Given the description of an element on the screen output the (x, y) to click on. 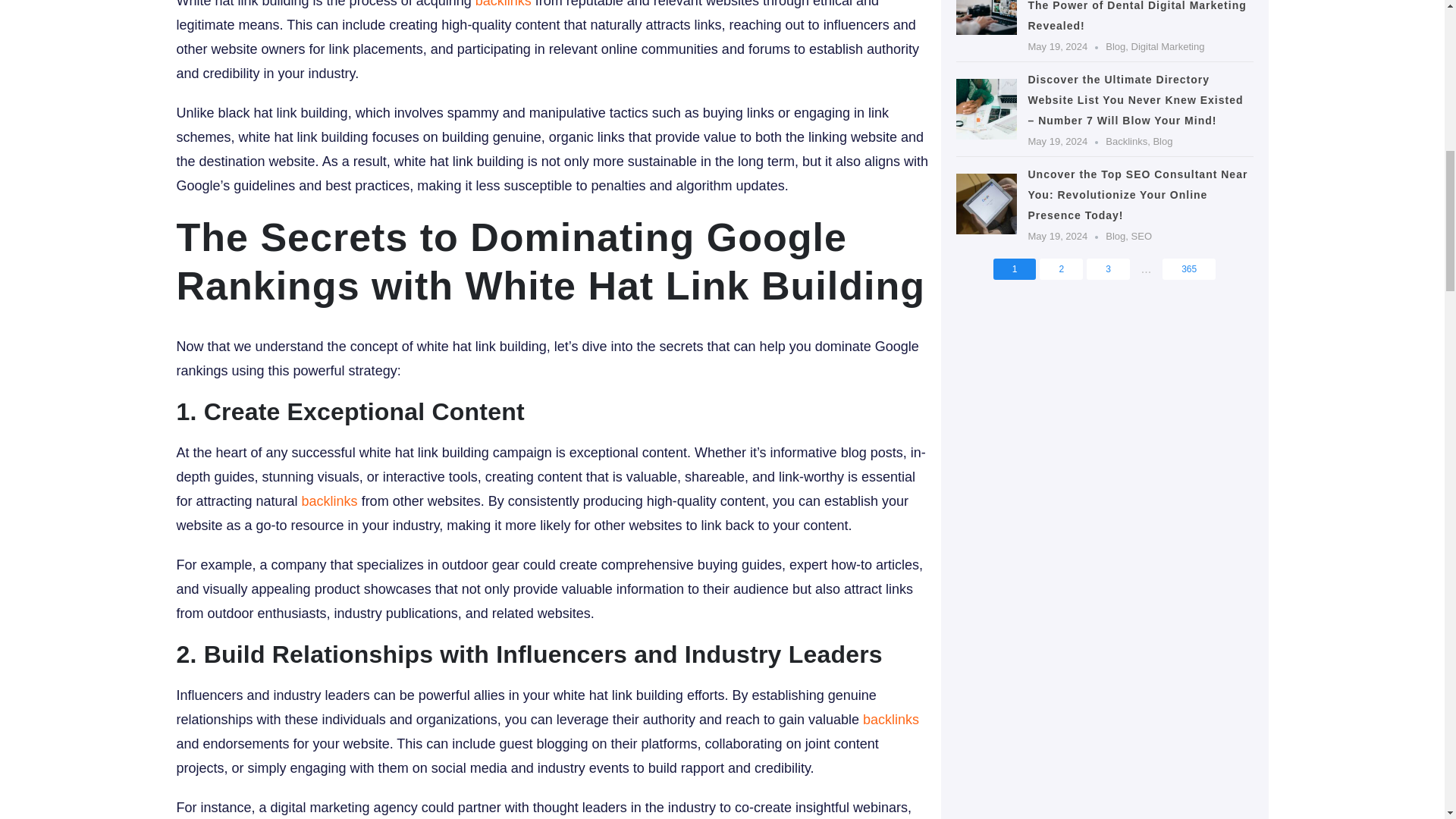
backlinks (329, 500)
backlinks (503, 4)
backlinks (890, 719)
